Given the description of an element on the screen output the (x, y) to click on. 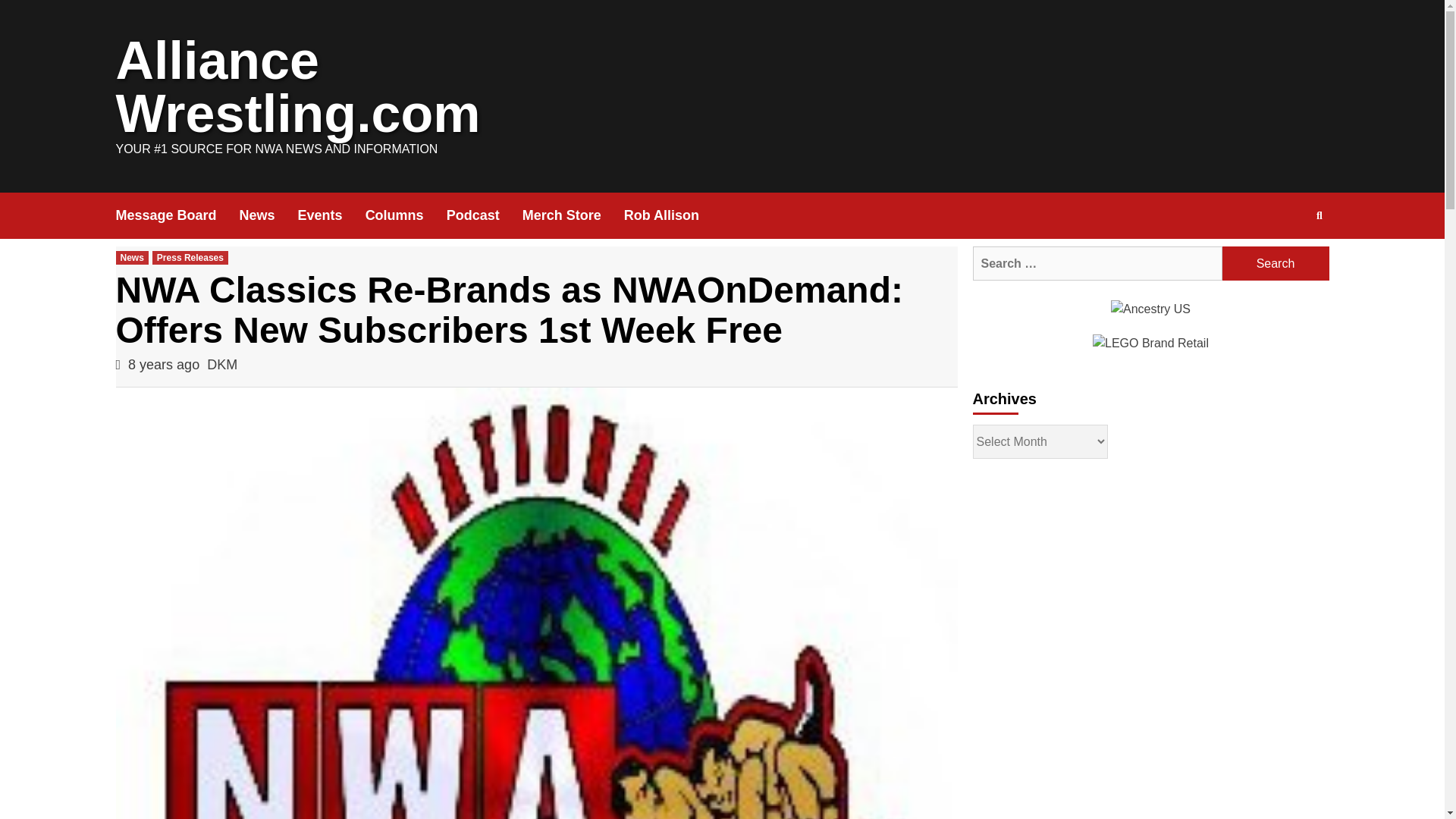
Message Board (176, 215)
Press Releases (190, 257)
News (269, 215)
Search (1276, 263)
DKM (221, 364)
Alliance Wrestling.com (297, 87)
Search (1283, 264)
Events (331, 215)
Merch Store (573, 215)
Columns (405, 215)
